Given the description of an element on the screen output the (x, y) to click on. 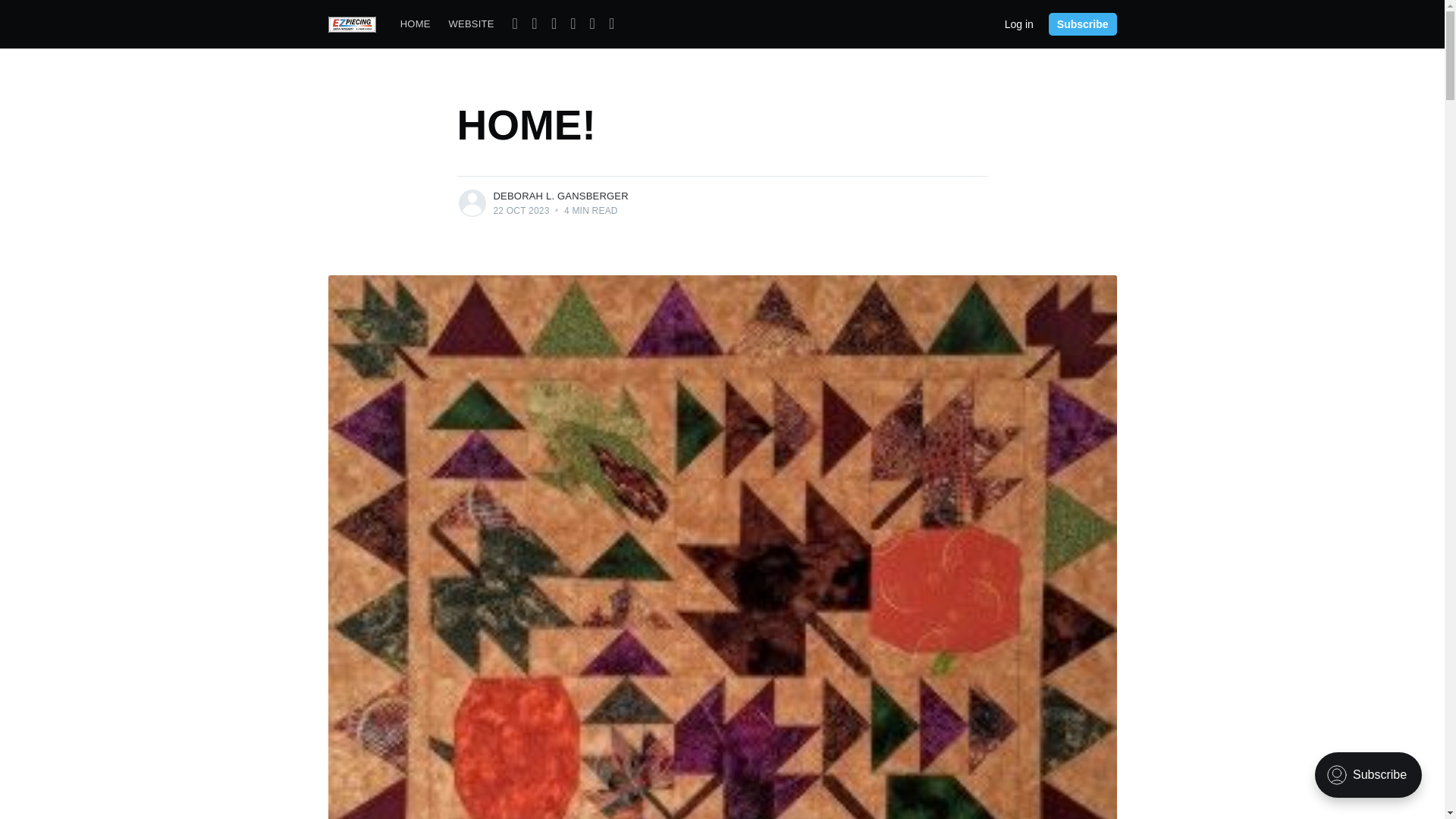
WEBSITE (471, 24)
HOME (415, 24)
Log in (1018, 23)
DEBORAH L. GANSBERGER (560, 195)
Subscribe (1082, 23)
